Given the description of an element on the screen output the (x, y) to click on. 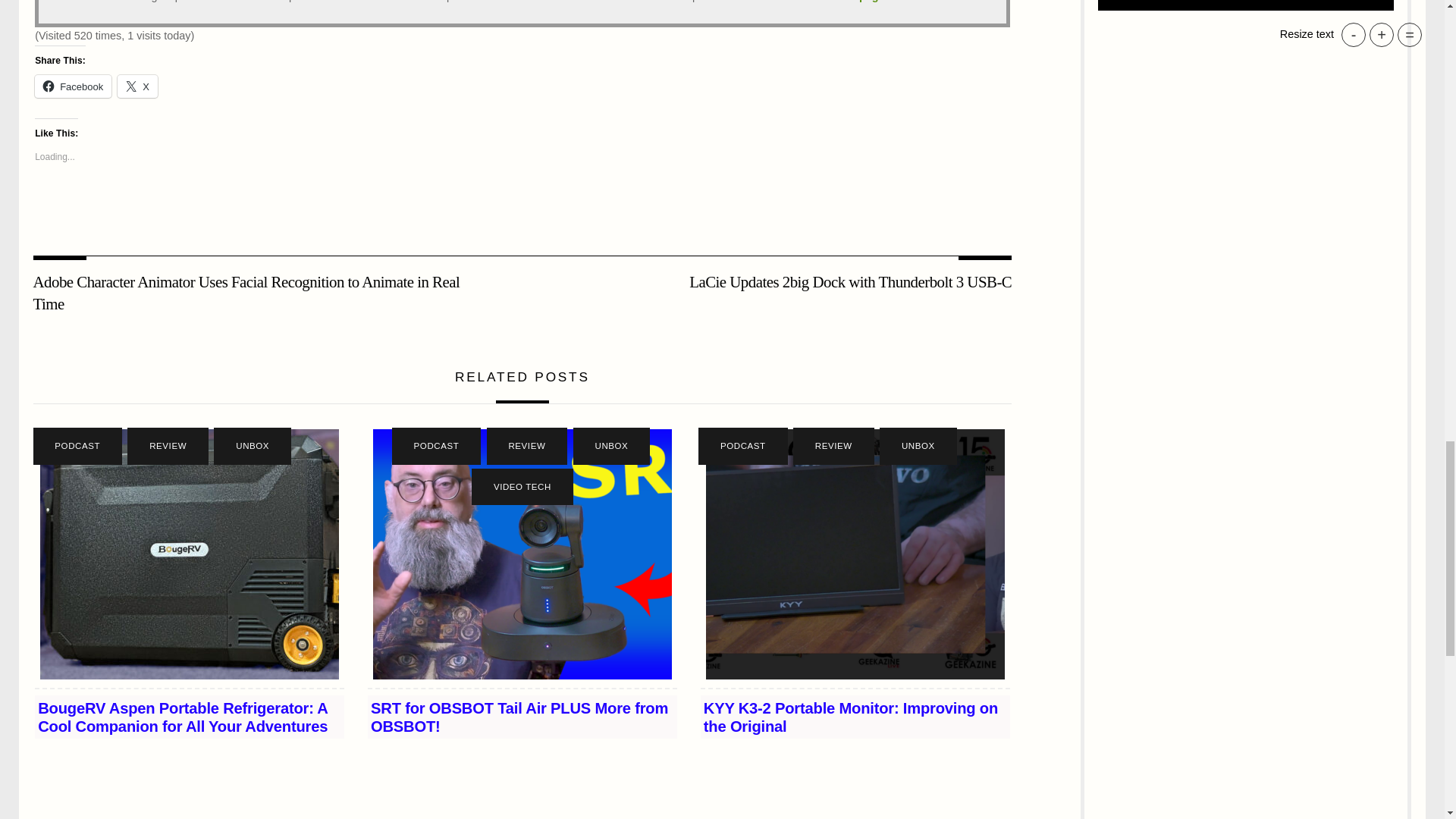
vlcsnap-2024-06-19-10h59m14s933 (855, 554)
Click to share on Facebook (73, 86)
Click to share on X (137, 86)
bougerv (189, 554)
Subscribe (1245, 5)
Like or Reblog (522, 209)
OBSBOT-SRT (521, 554)
